Given the description of an element on the screen output the (x, y) to click on. 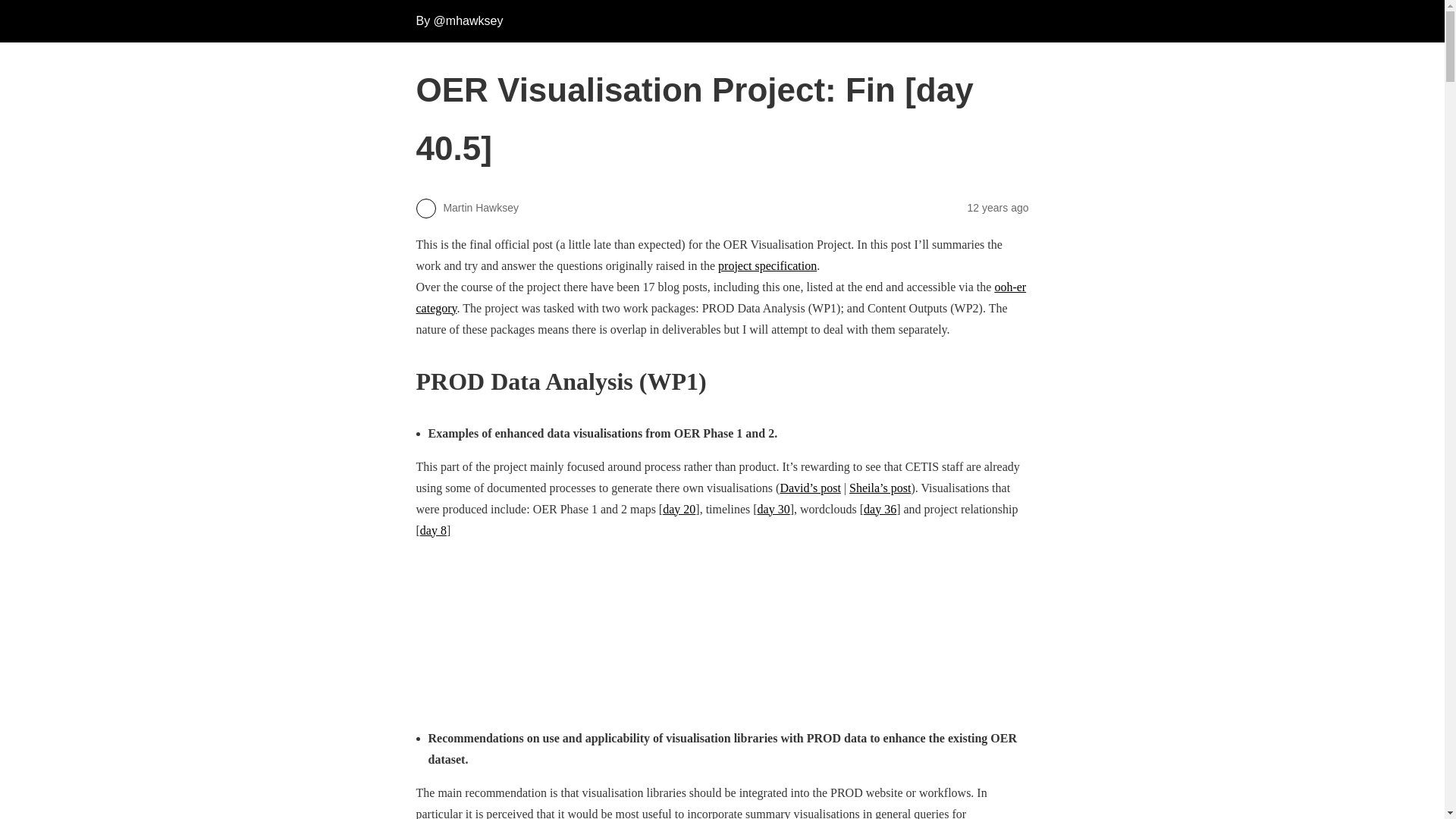
day 36 (879, 508)
day 30 (773, 508)
image (482, 620)
ooh-er category (720, 297)
day 20 (678, 508)
day 8 (433, 530)
project specification (766, 265)
